Given the description of an element on the screen output the (x, y) to click on. 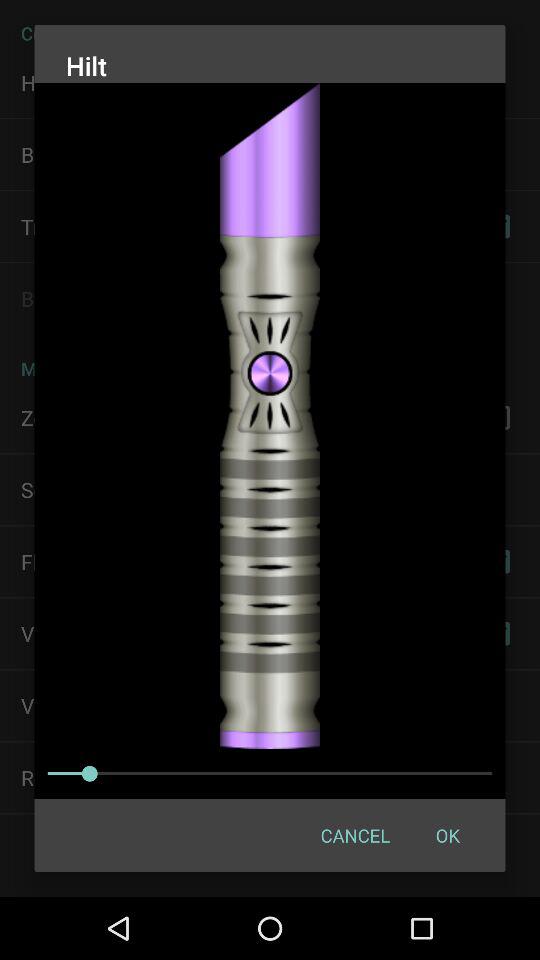
flip to the cancel (354, 834)
